Given the description of an element on the screen output the (x, y) to click on. 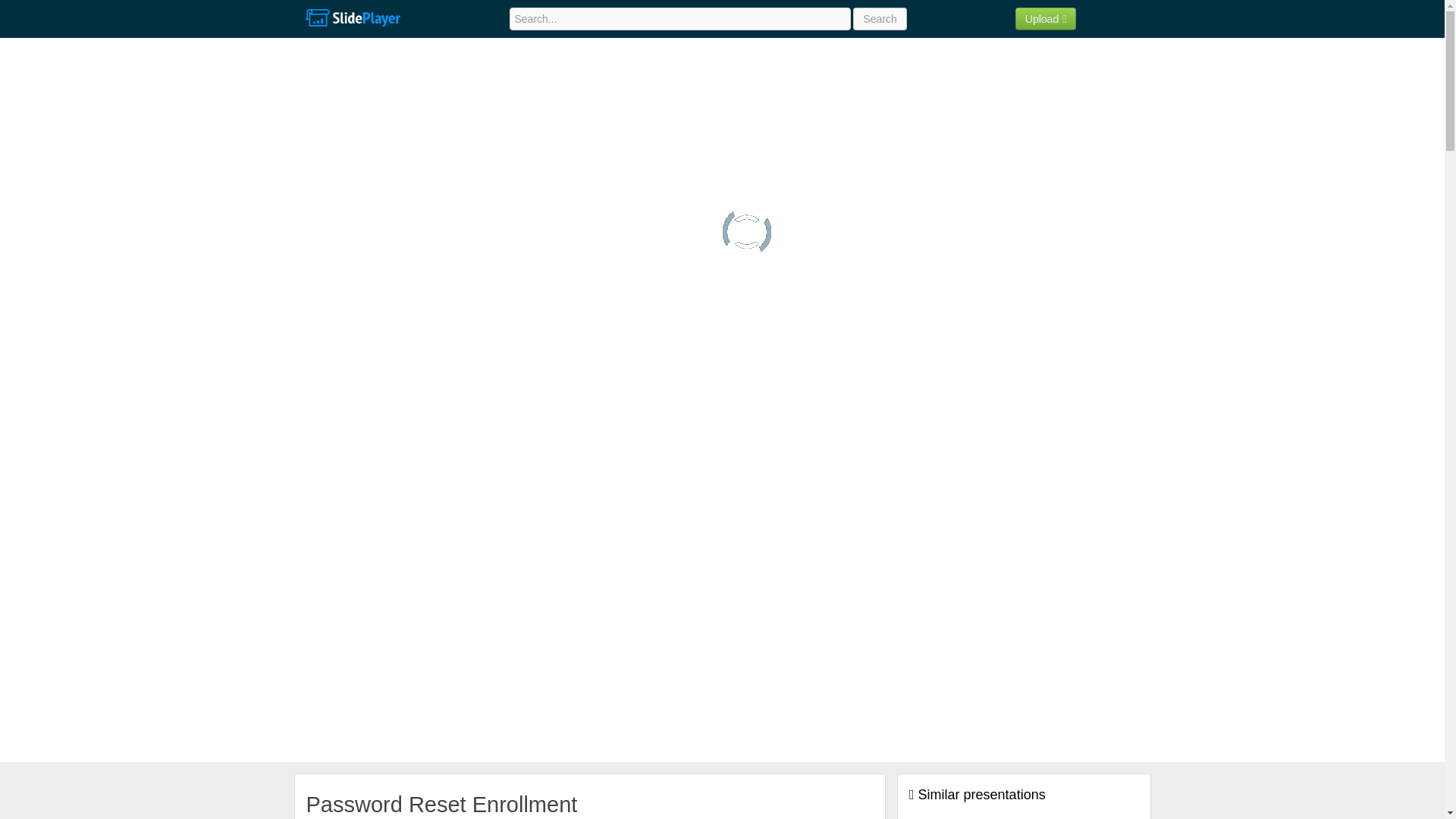
SlidePlayer (352, 18)
Search (879, 18)
Upload (1045, 18)
Presentation is loading. Please wait. (746, 232)
